Given the description of an element on the screen output the (x, y) to click on. 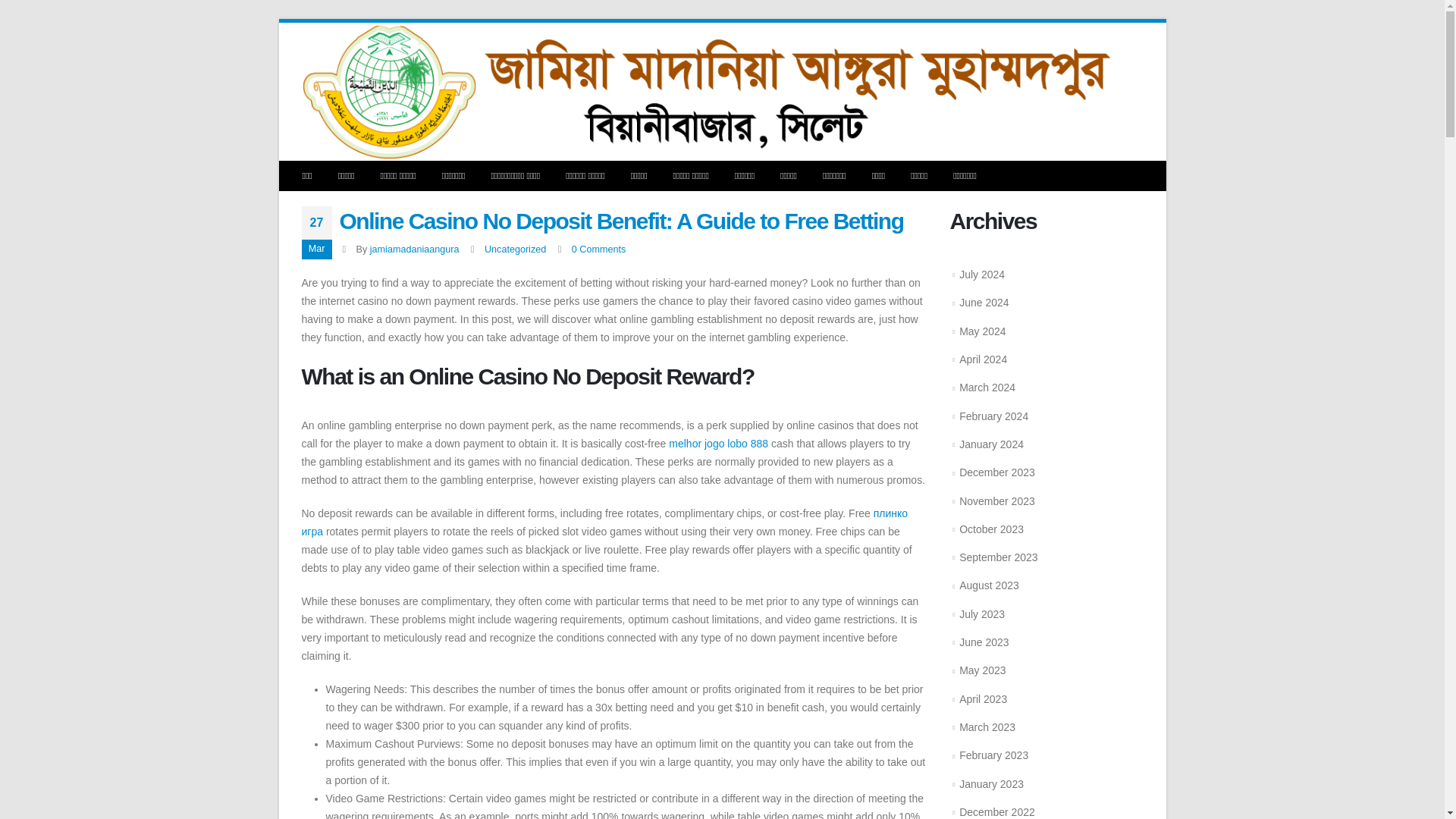
Posts by jamiamadaniaangura (414, 249)
0 Comments (599, 249)
